Given the description of an element on the screen output the (x, y) to click on. 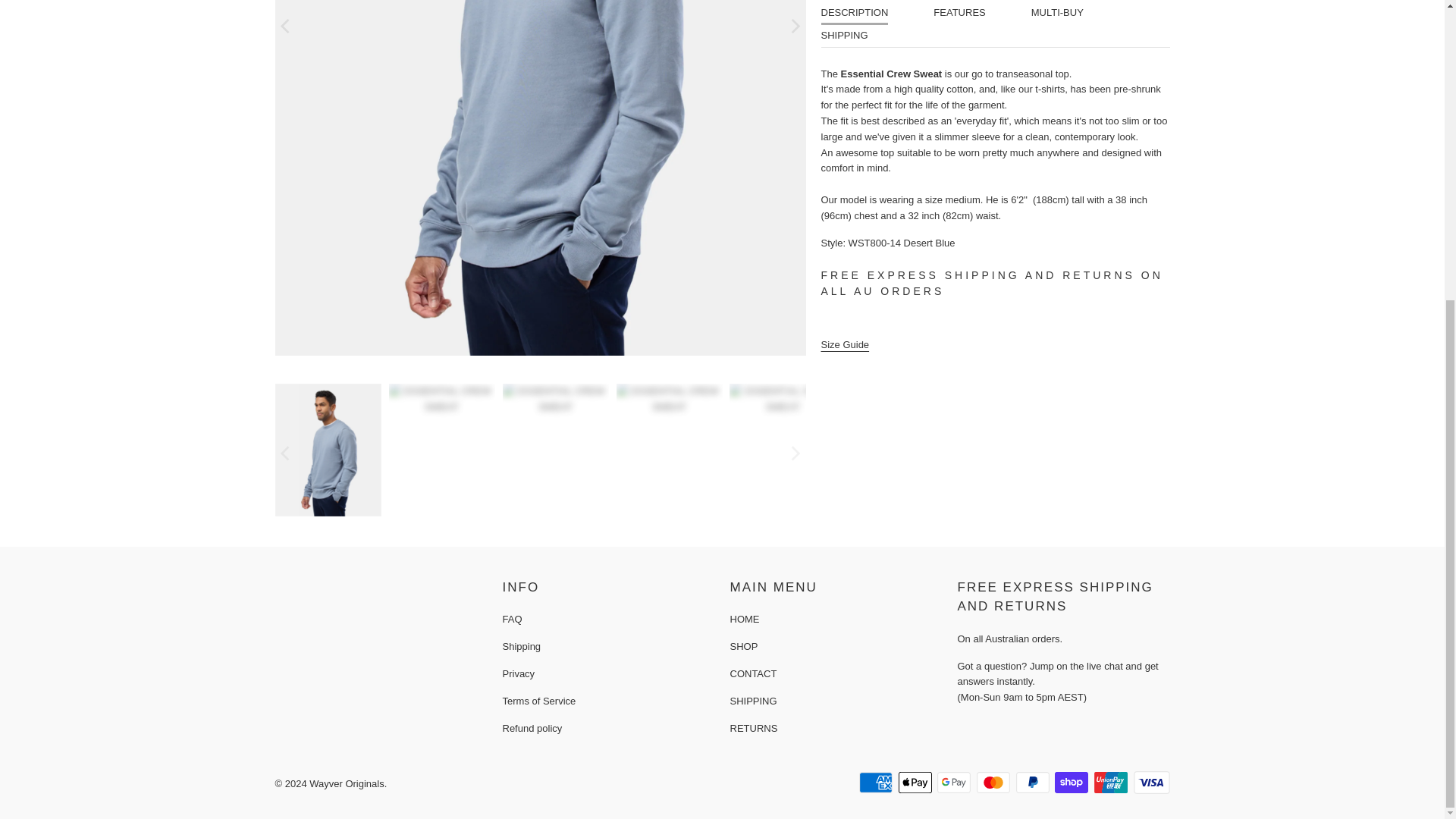
Mastercard (994, 782)
Wayver Free Shipping (920, 275)
Shop Pay (1072, 782)
Visa (1150, 782)
PayPal (1034, 782)
Apple Pay (916, 782)
Google Pay (955, 782)
American Express (877, 782)
Union Pay (1112, 782)
